Given the description of an element on the screen output the (x, y) to click on. 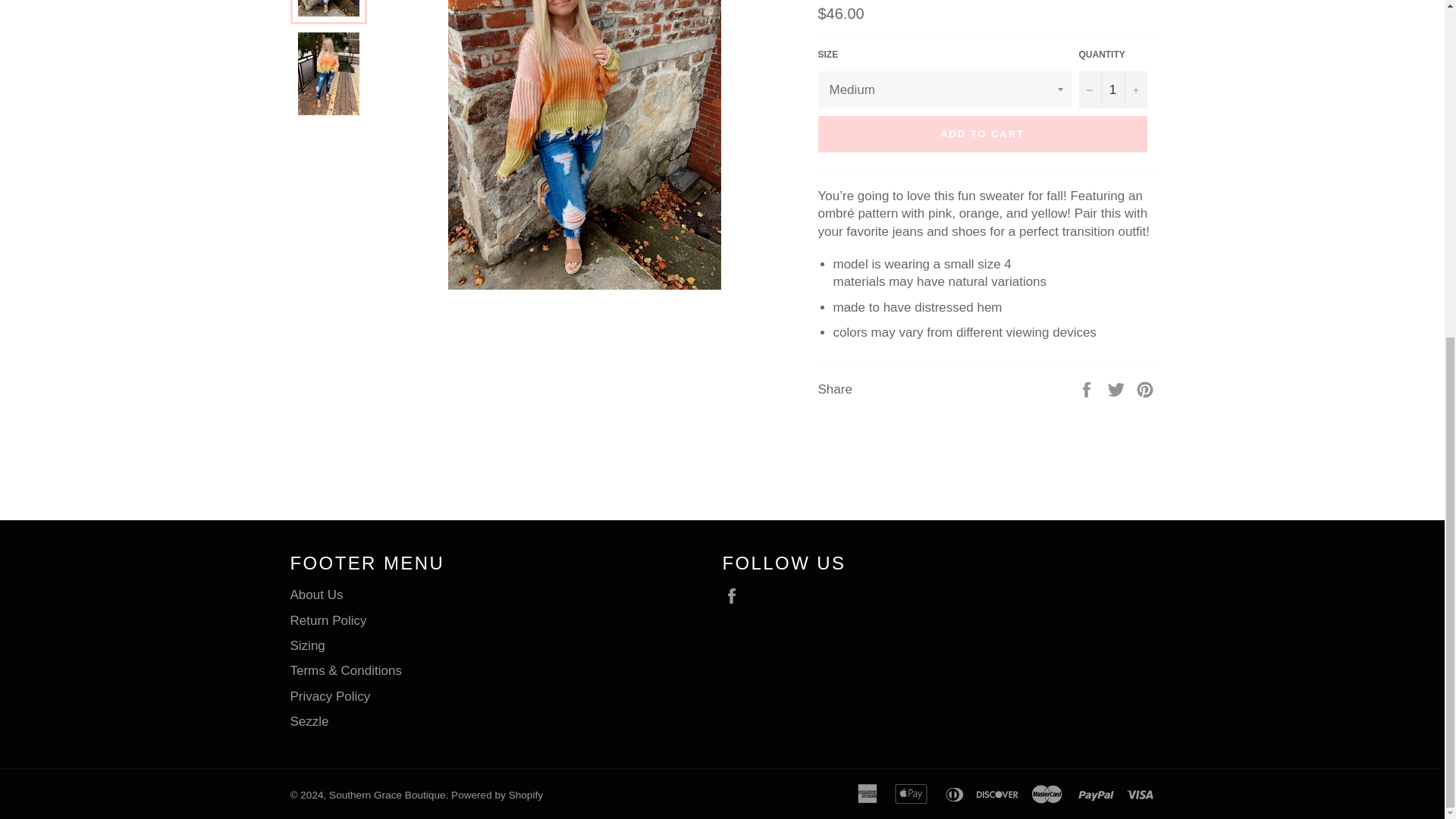
1 (1112, 89)
Share on Facebook (1088, 389)
Southern Grace Boutique on Facebook (735, 595)
Pin on Pinterest (1144, 389)
Tweet on Twitter (1117, 389)
